Given the description of an element on the screen output the (x, y) to click on. 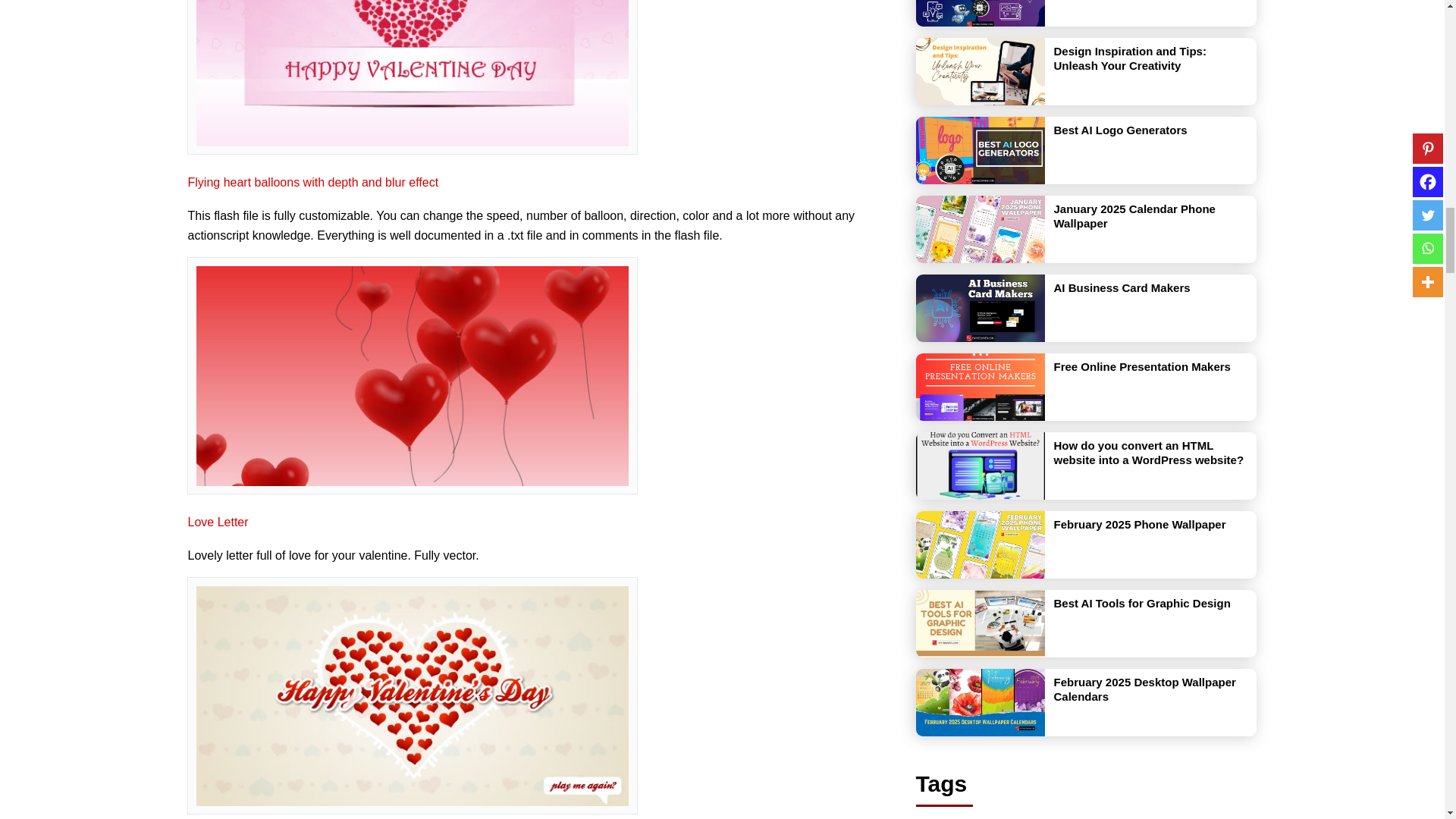
Love Letter (217, 522)
Flying heart balloons with depth and blur effect (313, 182)
